Given the description of an element on the screen output the (x, y) to click on. 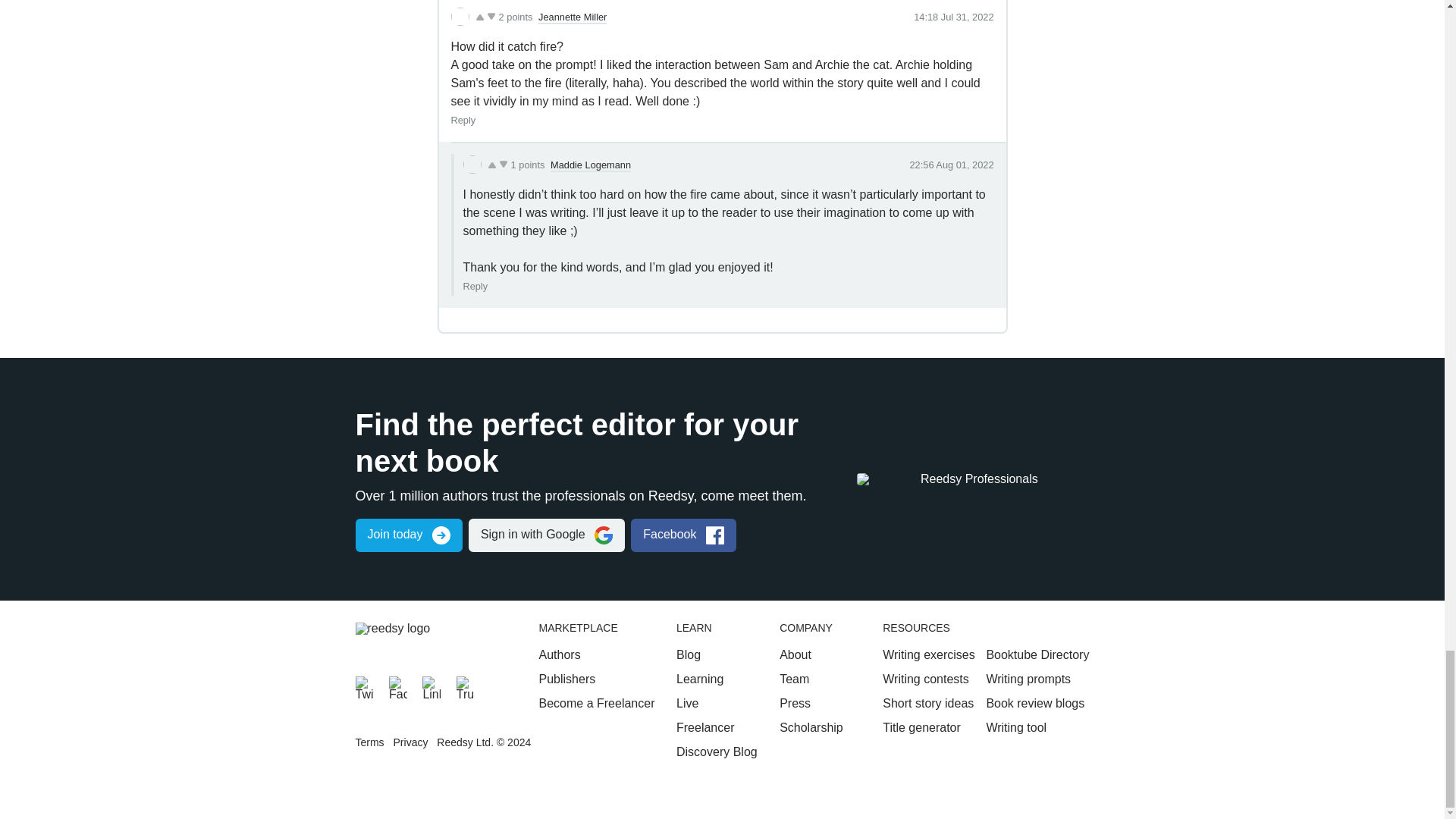
Sign in with Facebook (683, 535)
Trustpilot (465, 685)
LinkedIn (431, 685)
Facebook (397, 685)
Sign in with Google (546, 535)
Twitter (363, 685)
Sign up (408, 535)
